Given the description of an element on the screen output the (x, y) to click on. 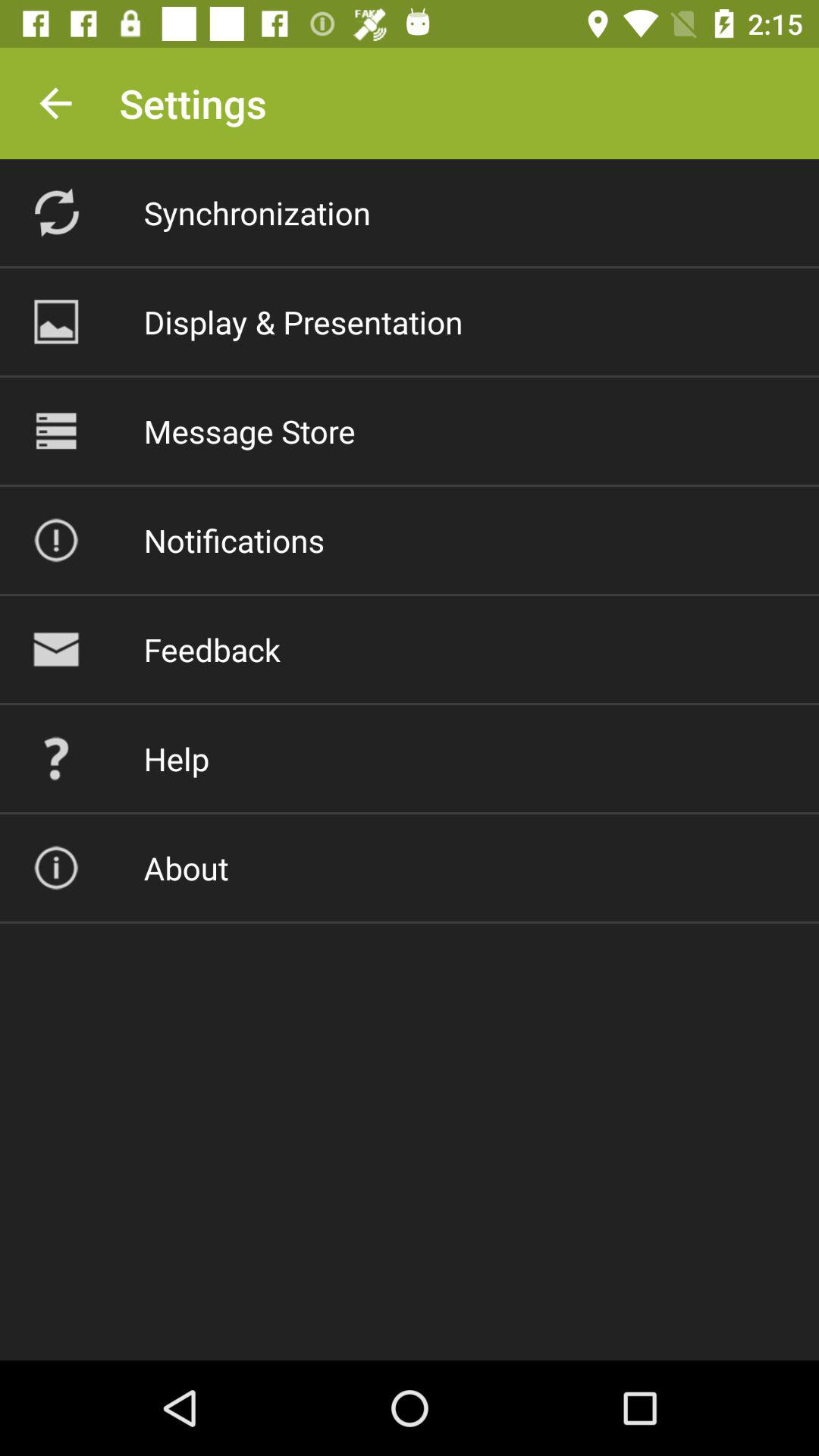
open the icon below the display & presentation (249, 430)
